Given the description of an element on the screen output the (x, y) to click on. 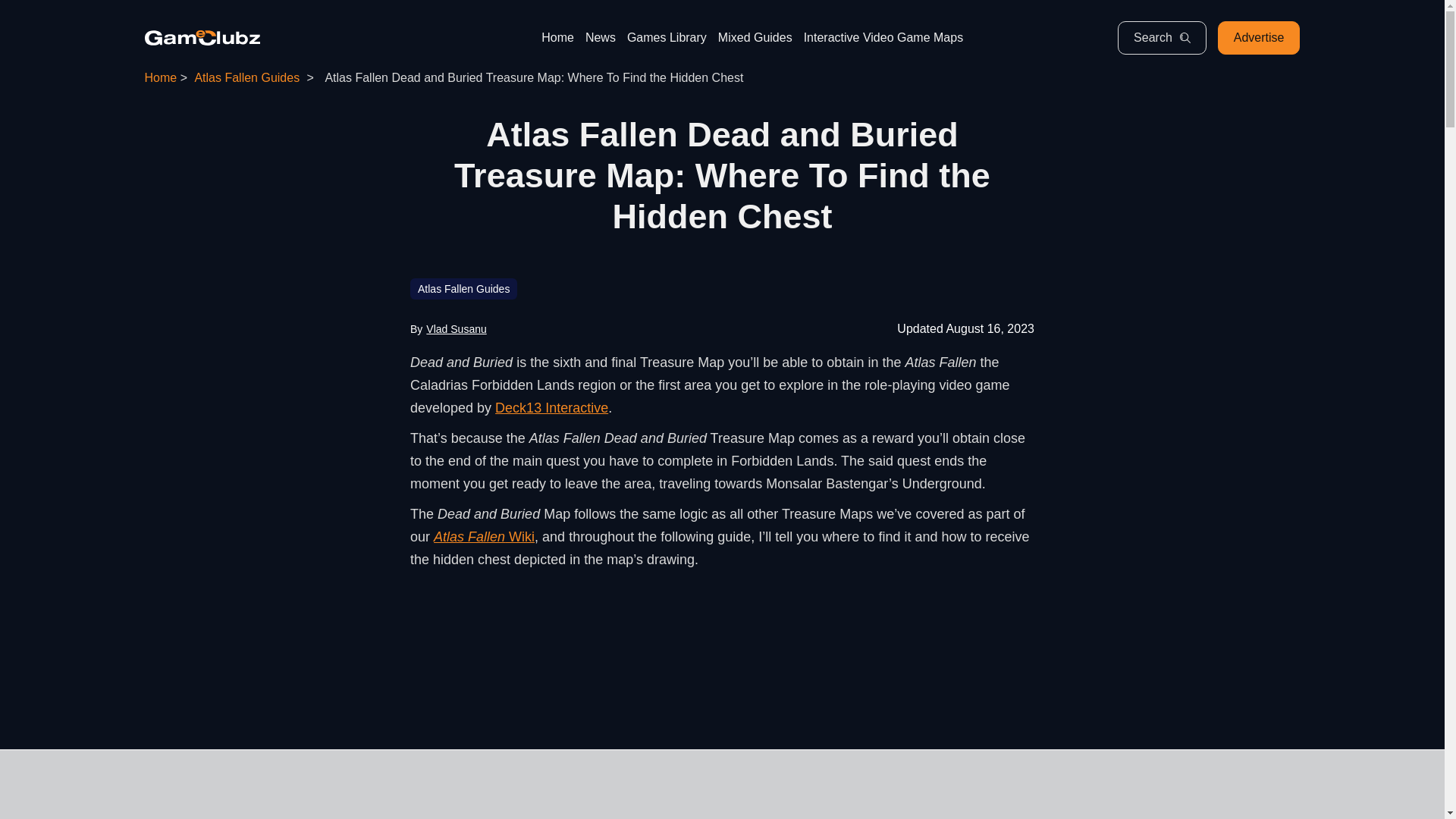
Deck13 Interactive (551, 407)
Home (160, 77)
Atlas Fallen Guides (463, 288)
Atlas Fallen Wiki (483, 536)
Atlas Fallen Guides (246, 77)
Vlad Susanu (456, 328)
Games Library (666, 37)
Interactive Video Game Maps (882, 37)
Advertise (1258, 37)
Mixed Guides (754, 37)
